Given the description of an element on the screen output the (x, y) to click on. 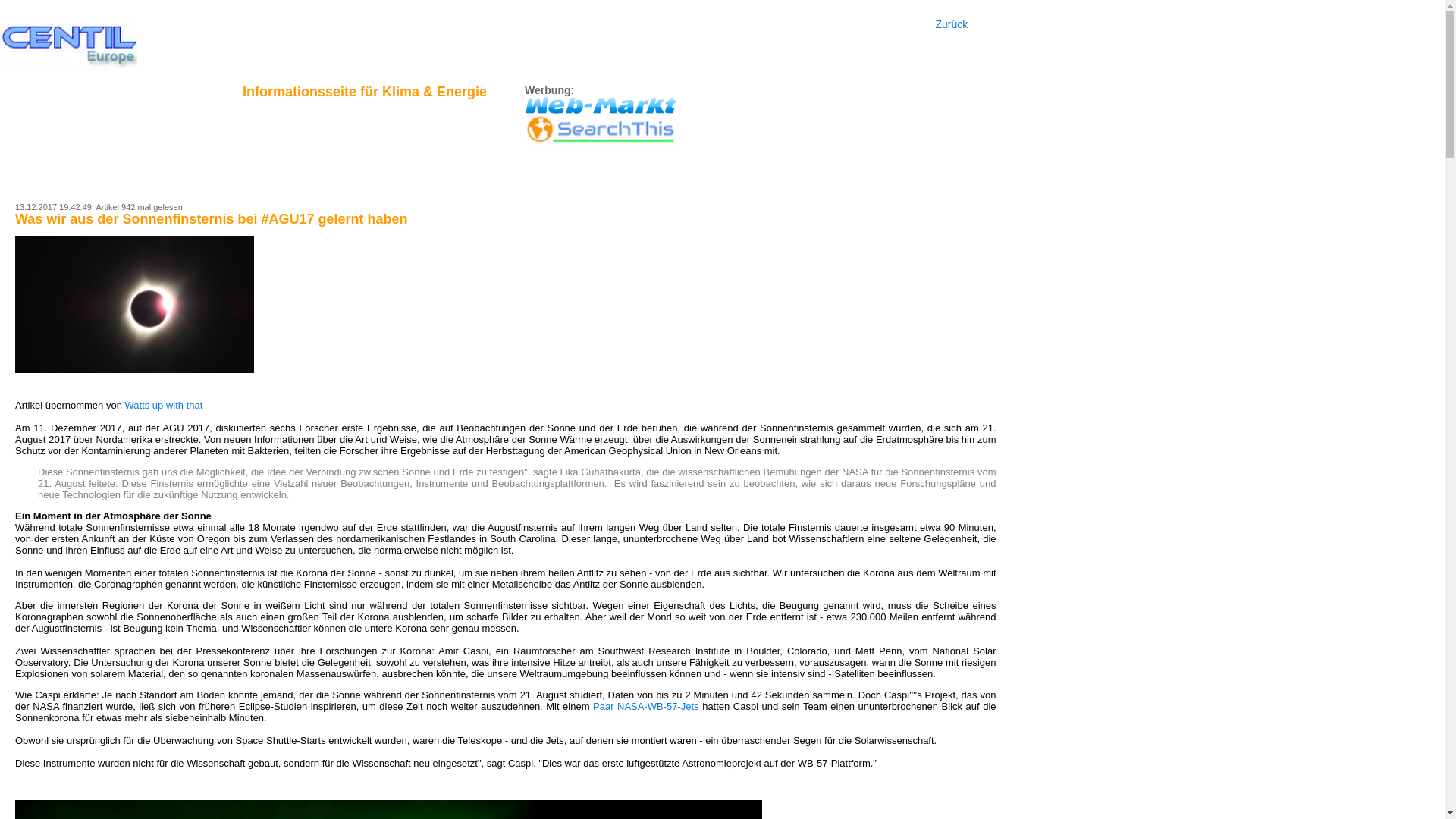
Paar NASA-WB-57-Jets Element type: text (646, 706)
Watts up with that Element type: text (164, 404)
Gratis inserieren bei Webmarkt Element type: hover (600, 104)
